Given the description of an element on the screen output the (x, y) to click on. 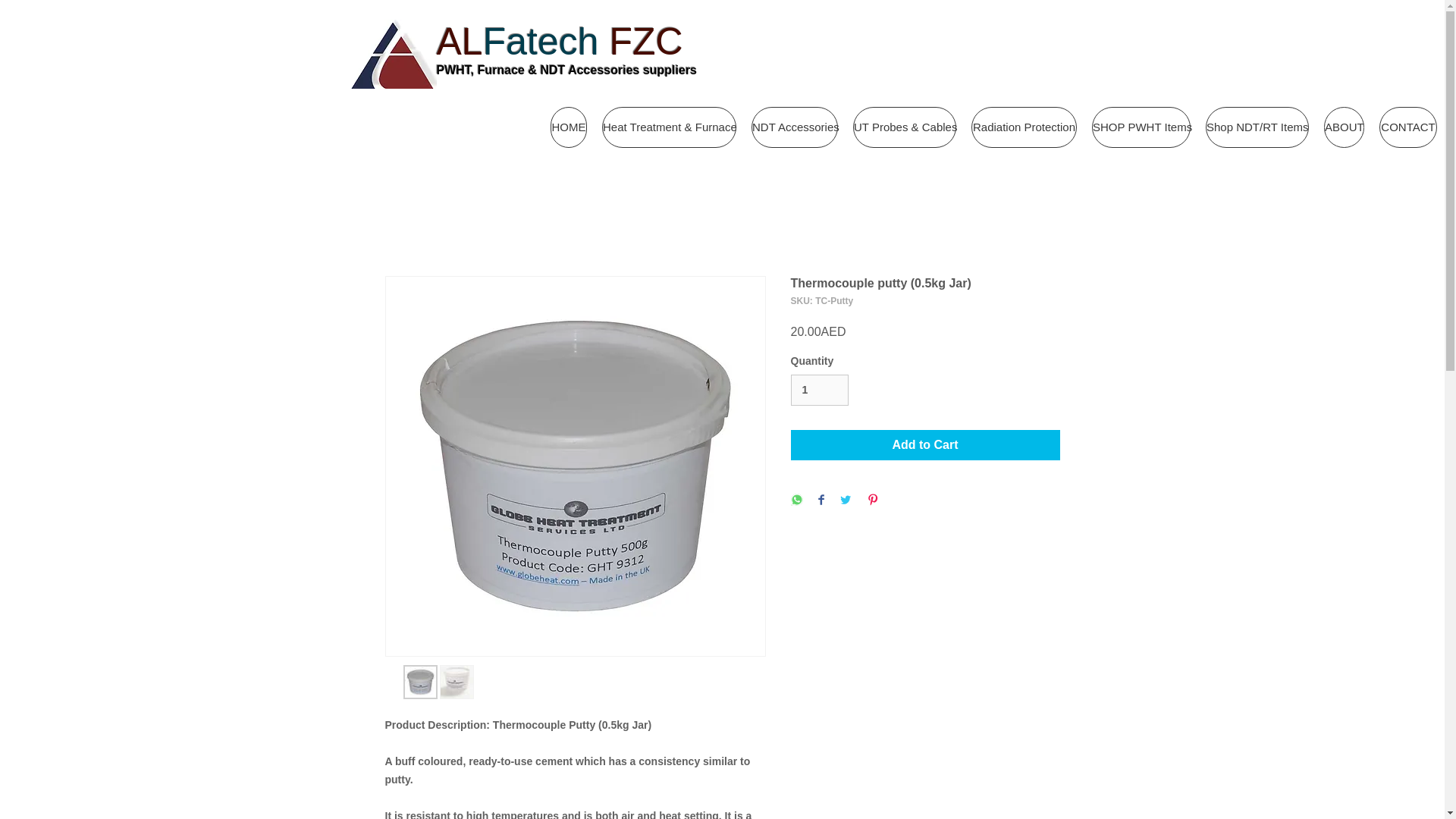
HOME (568, 127)
Add to Cart (924, 444)
CONTACT (1407, 127)
SHOP PWHT Items (1141, 127)
Radiation Protection (1024, 127)
1 (818, 389)
ABOUT (1343, 127)
NDT Accessories (794, 127)
